Given the description of an element on the screen output the (x, y) to click on. 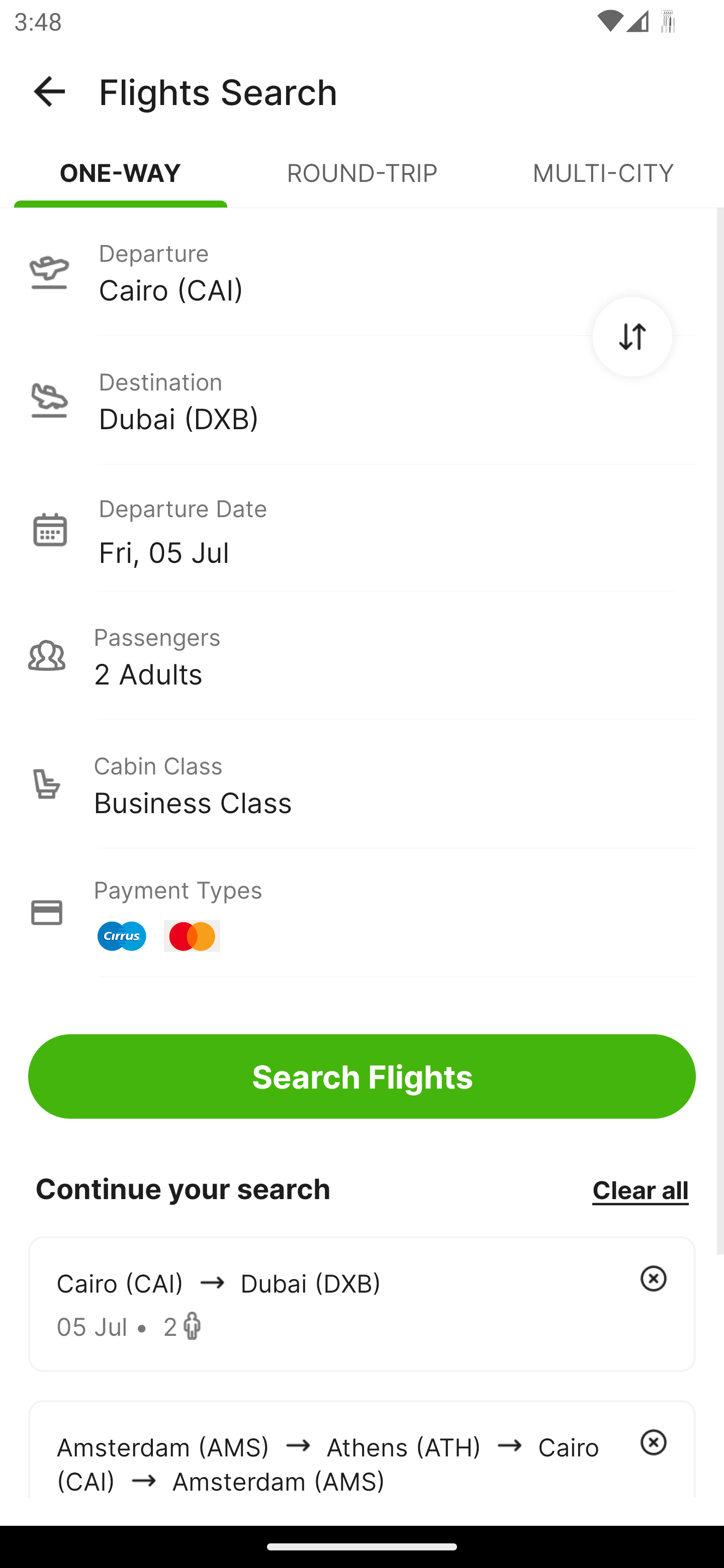
ONE-WAY (120, 180)
ROUND-TRIP (361, 180)
MULTI-CITY (603, 180)
Departure Cairo (CAI) (362, 270)
Destination Dubai (DXB) (362, 400)
Departure Date Fri, 05 Jul (396, 528)
Passengers 2 Adults (362, 655)
Cabin Class Business Class (362, 783)
Payment Types (362, 912)
Search Flights (361, 1075)
Clear all (640, 1189)
Cairo (CAI)  arrowIcon  Dubai (DXB) 05 Jul •  2  (361, 1303)
